Given the description of an element on the screen output the (x, y) to click on. 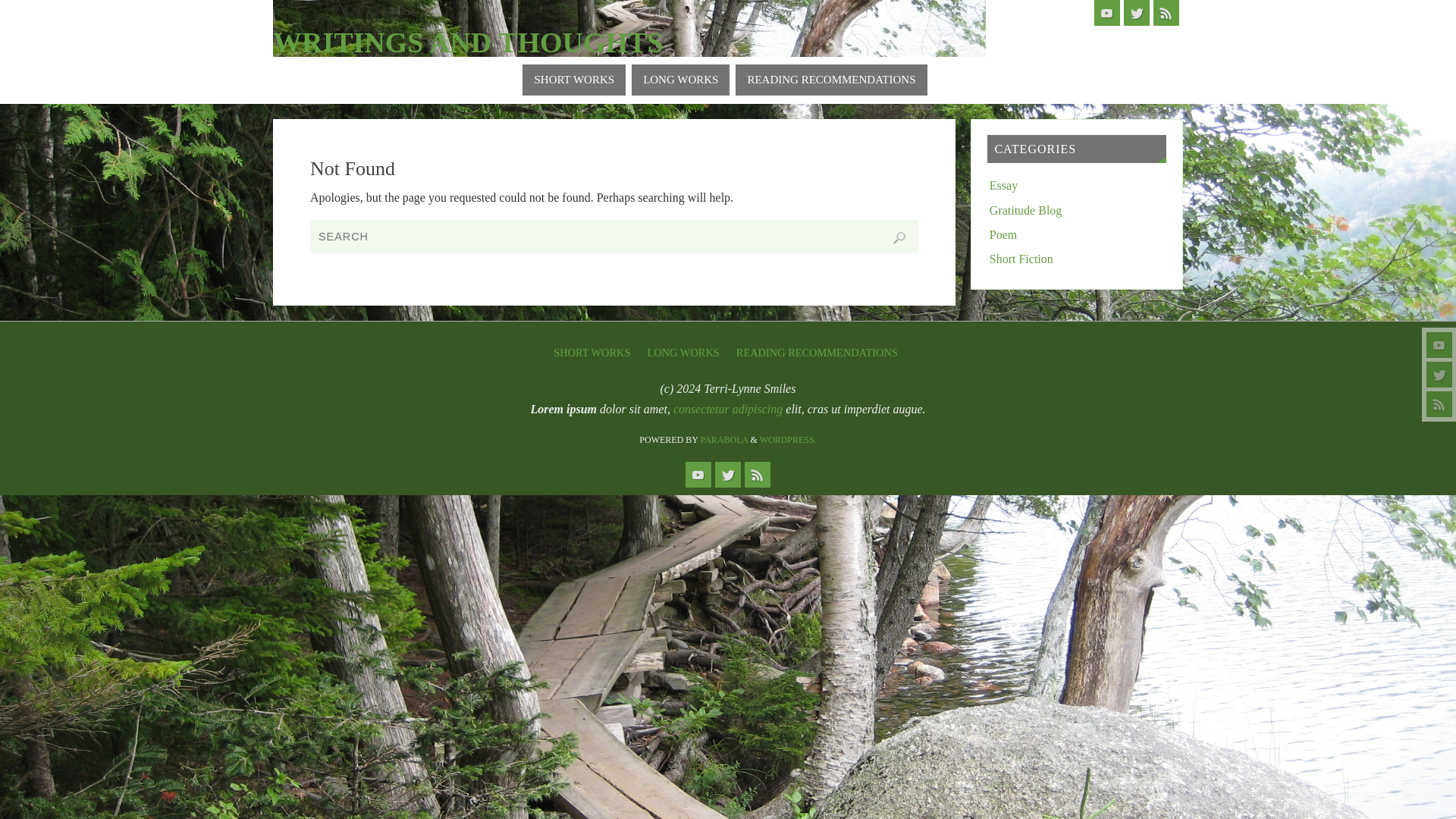
Parabola Theme by Cryout Creations (724, 439)
YouTube (698, 474)
RSS (1438, 403)
Essay (1003, 185)
Writings and Thoughts (468, 42)
Writings and Thoughts (629, 35)
YouTube (1438, 344)
Short Fiction (1021, 258)
WORDPRESS. (788, 439)
Poem (1003, 234)
